Given the description of an element on the screen output the (x, y) to click on. 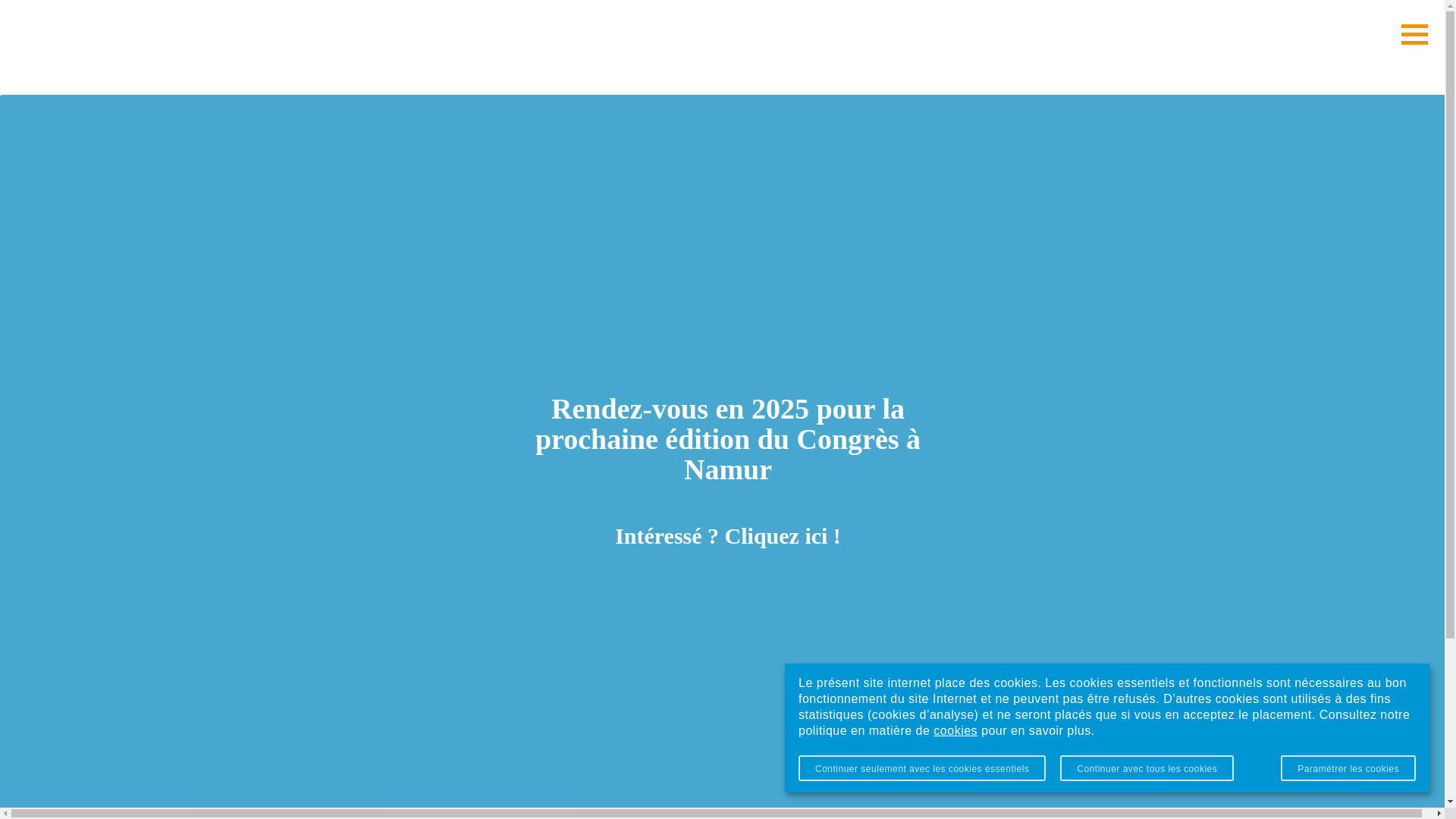
cookies Element type: text (955, 730)
Continuer avec tous les cookies Element type: text (1146, 768)
Continuer seulement avec les cookies essentiels Element type: text (921, 768)
